Given the description of an element on the screen output the (x, y) to click on. 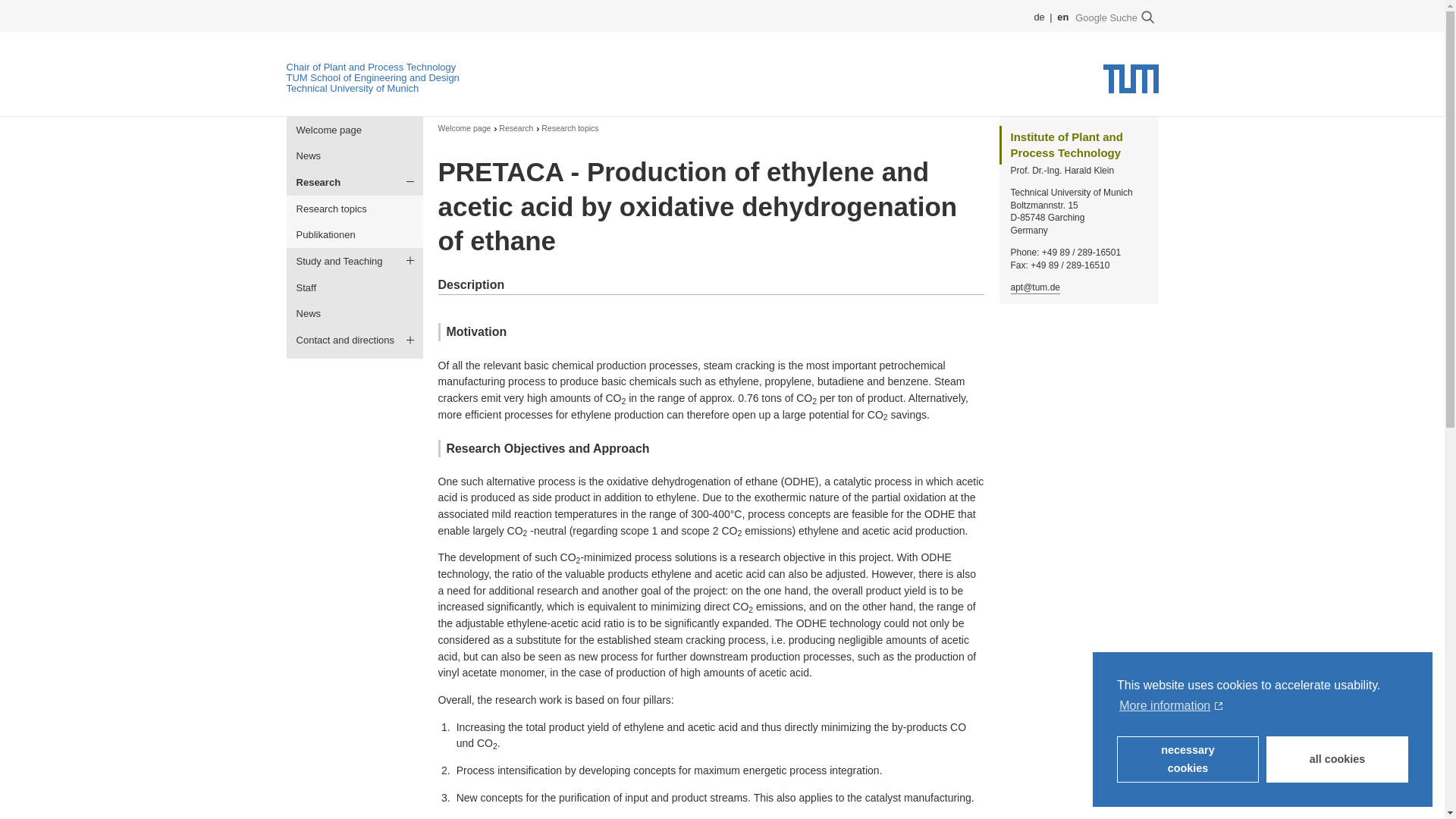
Google Suche (1113, 18)
Research topics (354, 208)
Contact and directions (354, 340)
Welcome page (465, 128)
Research topics (569, 128)
TUM School of Engineering and Design (373, 77)
Research (354, 181)
Welcome page (354, 130)
Study and Teaching (354, 261)
News (354, 314)
English (1062, 16)
Home Technical University of Munich (352, 88)
de (1039, 16)
Home TUM School of Engineering and Design (373, 77)
Research (515, 128)
